Given the description of an element on the screen output the (x, y) to click on. 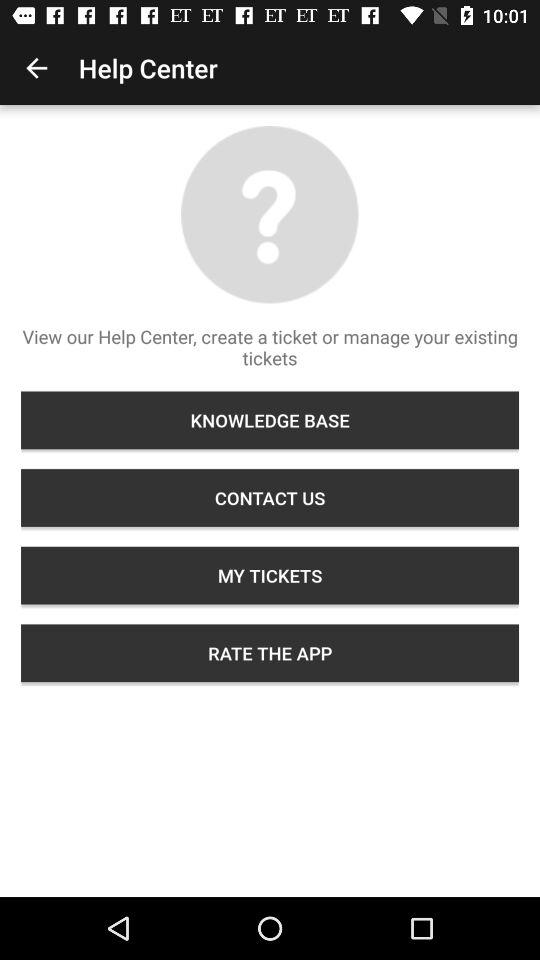
click item above the contact us (270, 420)
